Given the description of an element on the screen output the (x, y) to click on. 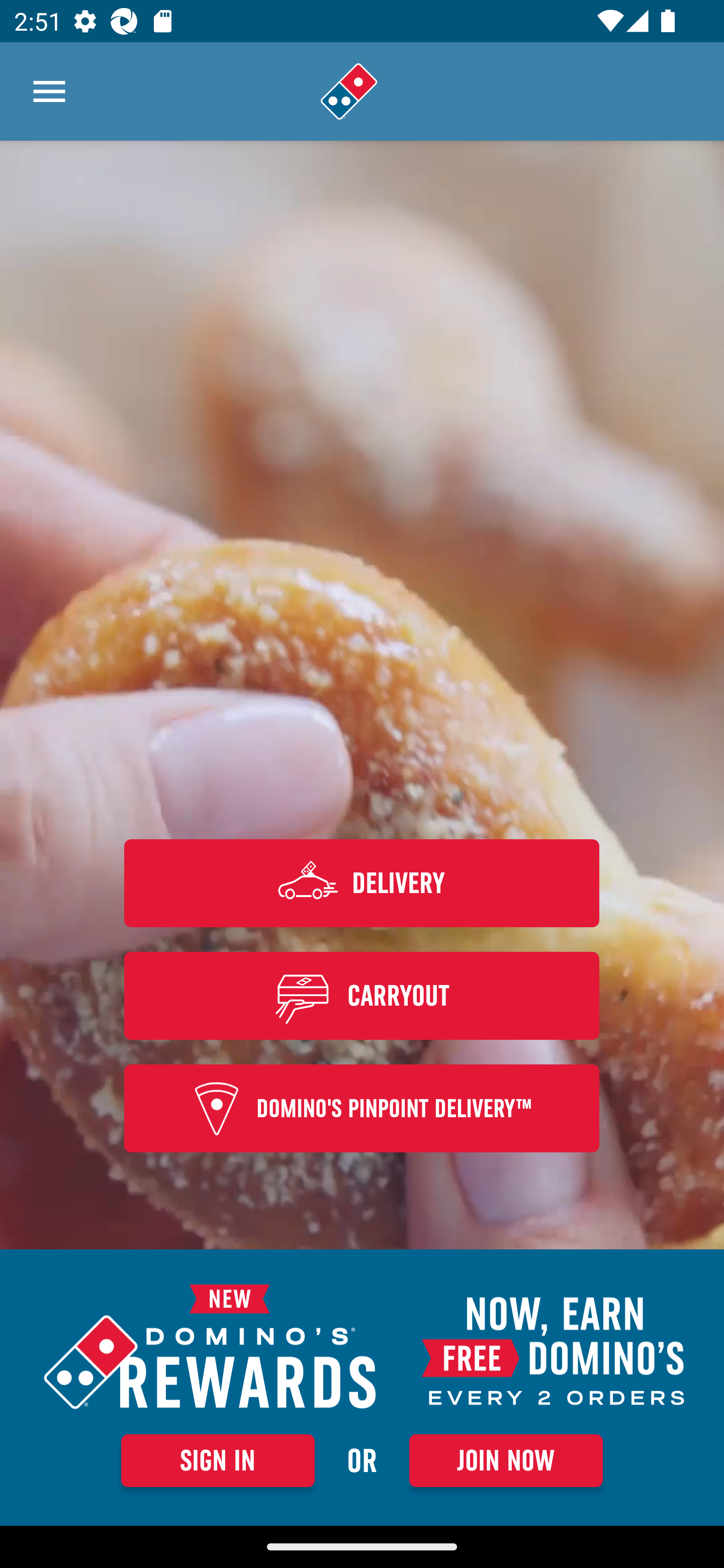
Expand Menu (49, 91)
DELIVERY (361, 882)
CARRYOUT (361, 995)
DOMINO'S PINPOINT DELIVERY™ (361, 1108)
SIGN IN (217, 1460)
JOIN NOW (506, 1460)
